Given the description of an element on the screen output the (x, y) to click on. 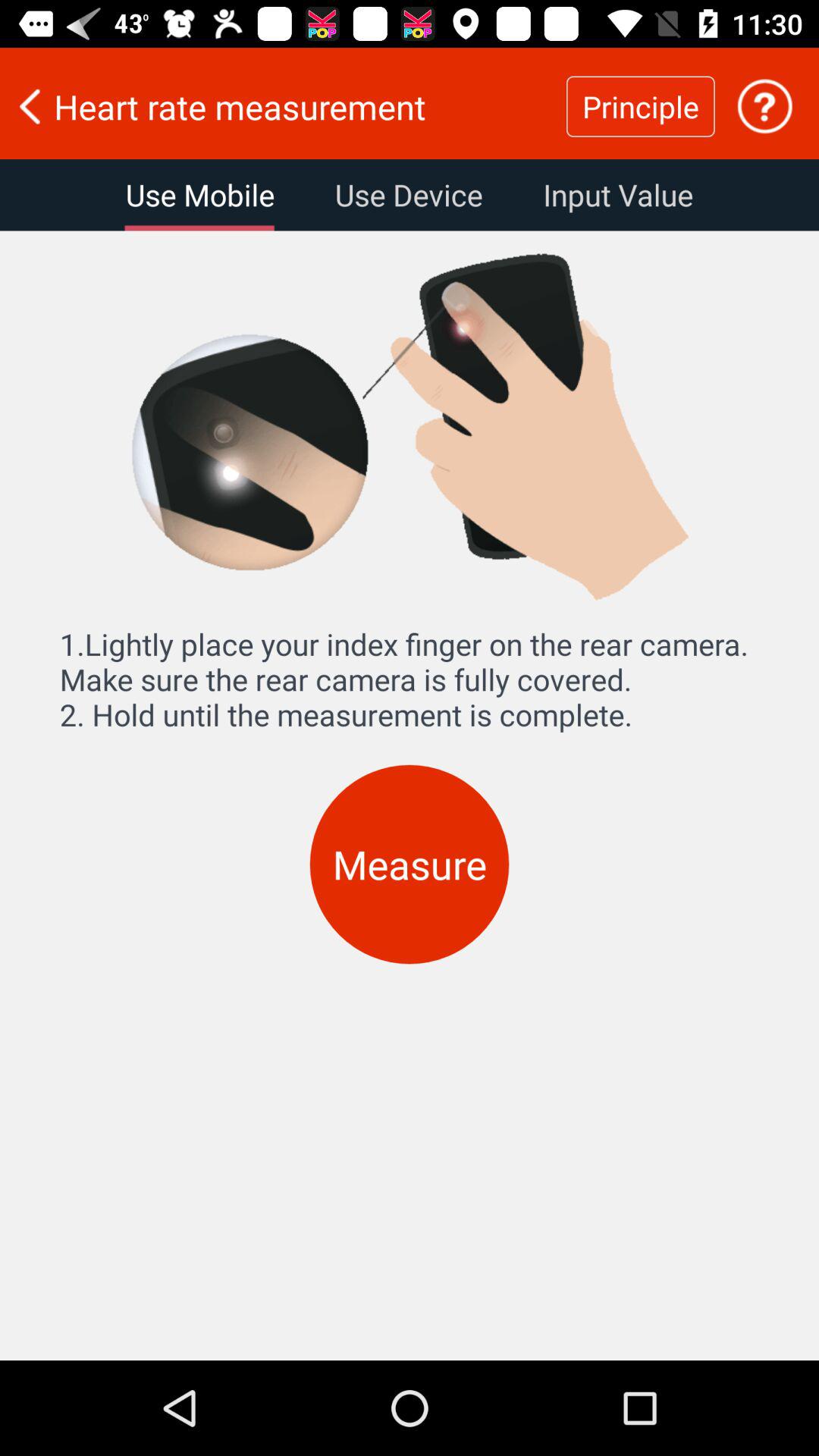
launch input value item (618, 194)
